Given the description of an element on the screen output the (x, y) to click on. 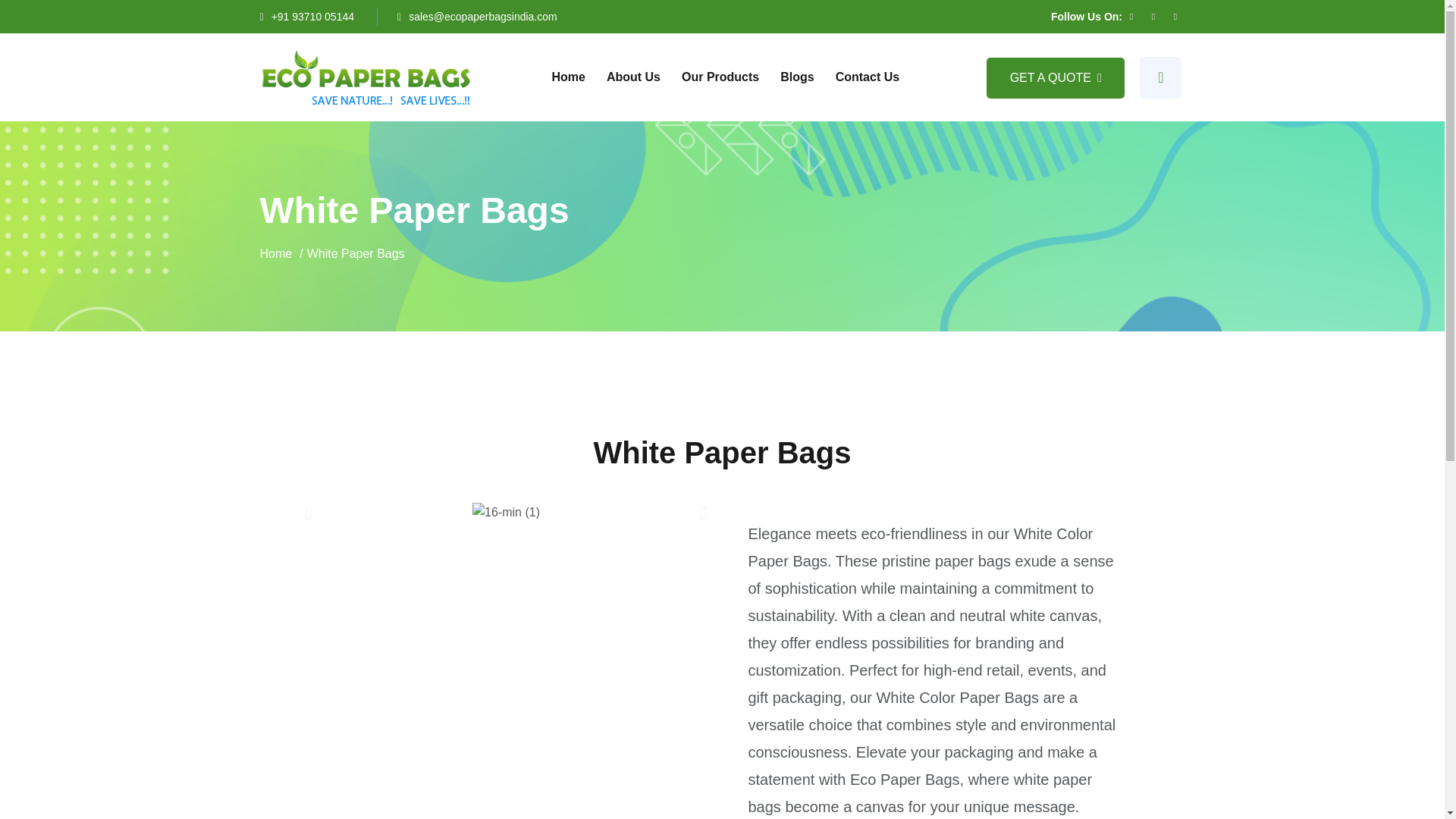
White Paper Bags (355, 253)
GET A QUOTE (1055, 77)
Home (275, 253)
Home (275, 253)
